Given the description of an element on the screen output the (x, y) to click on. 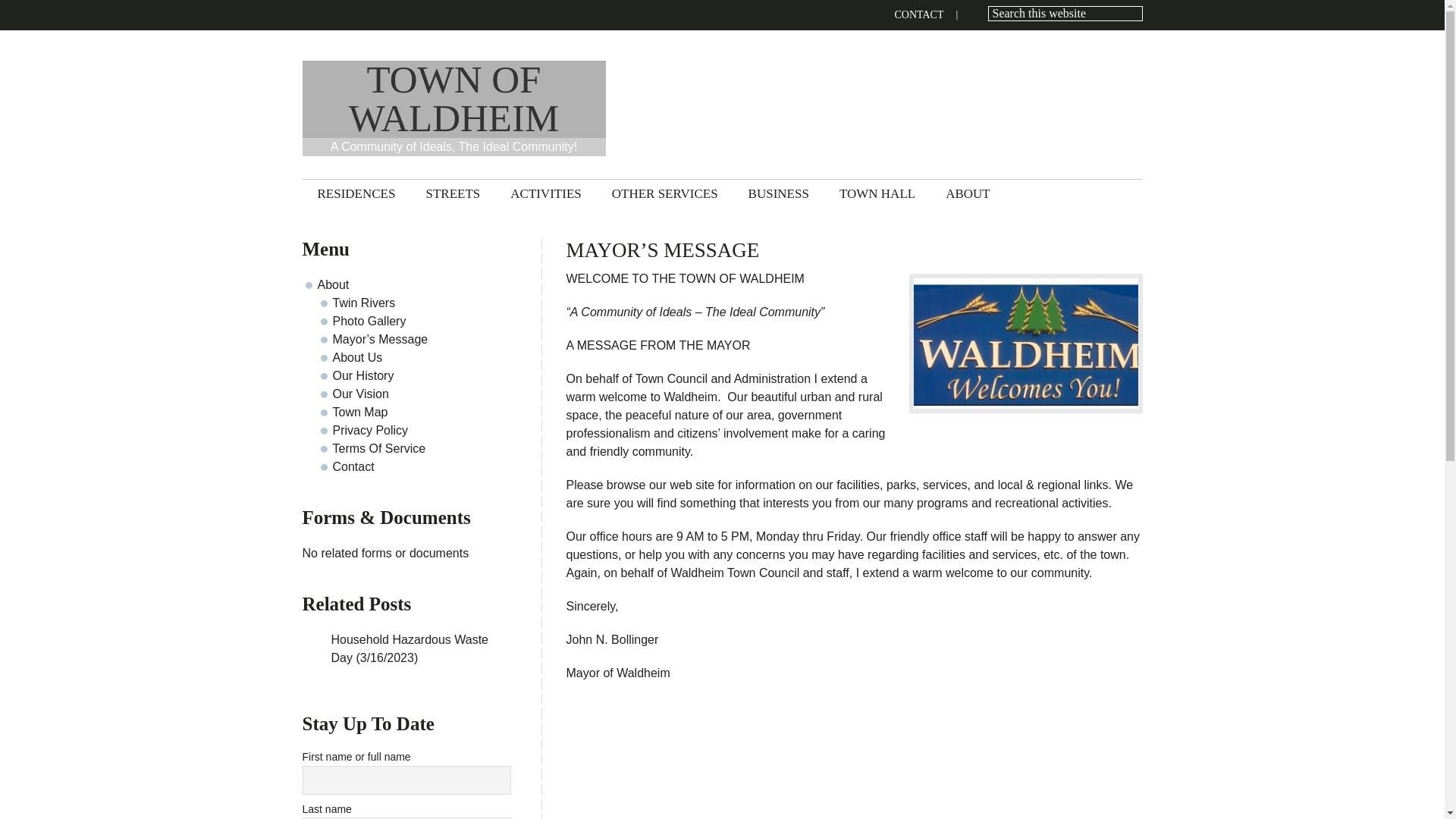
ACTIVITIES (545, 193)
OTHER SERVICES (664, 193)
BUSINESS (778, 193)
RESIDENCES (355, 193)
TOWN HALL (877, 193)
CONTACT (919, 14)
STREETS (452, 193)
